Given the description of an element on the screen output the (x, y) to click on. 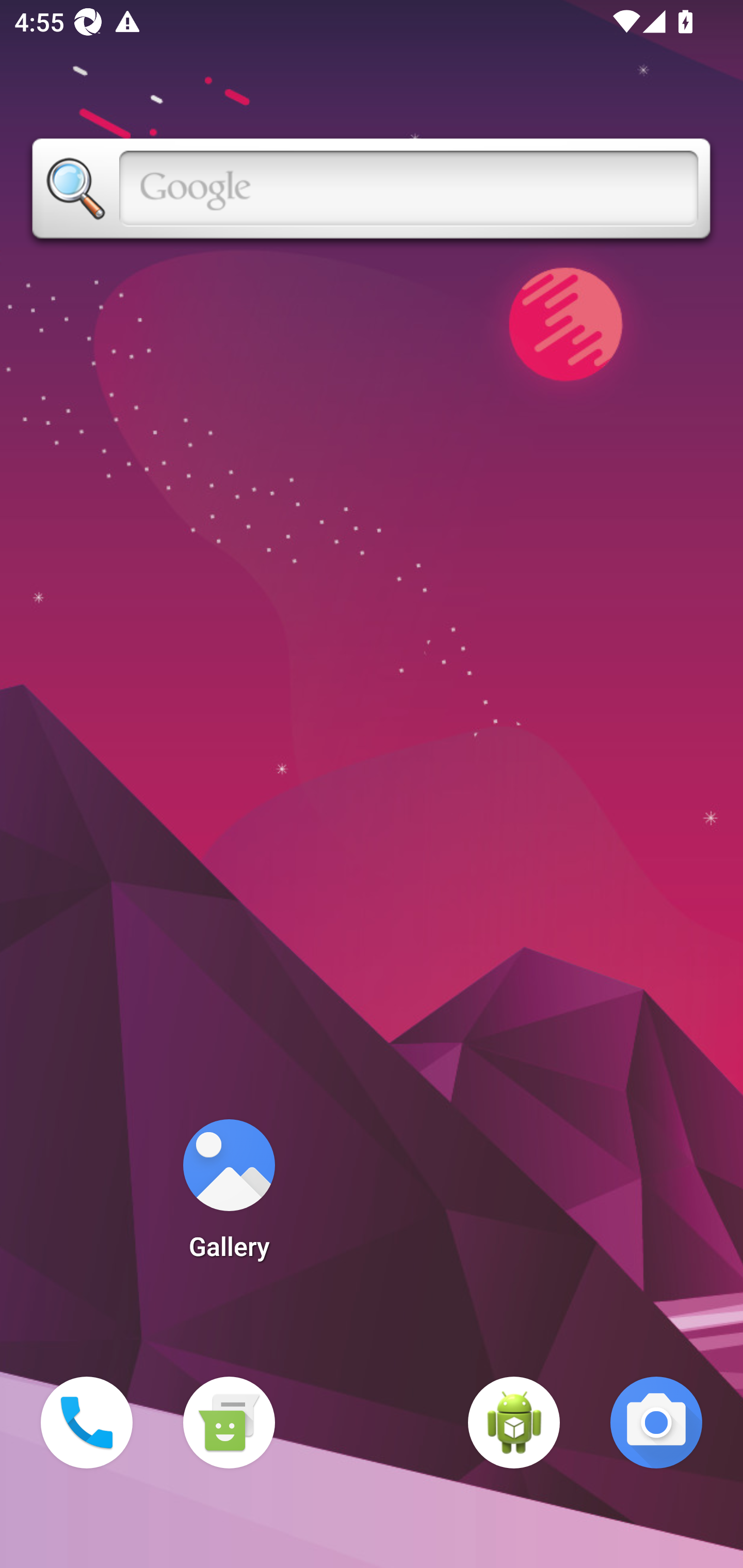
Gallery (228, 1195)
Phone (86, 1422)
Messaging (228, 1422)
WebView Browser Tester (513, 1422)
Camera (656, 1422)
